Given the description of an element on the screen output the (x, y) to click on. 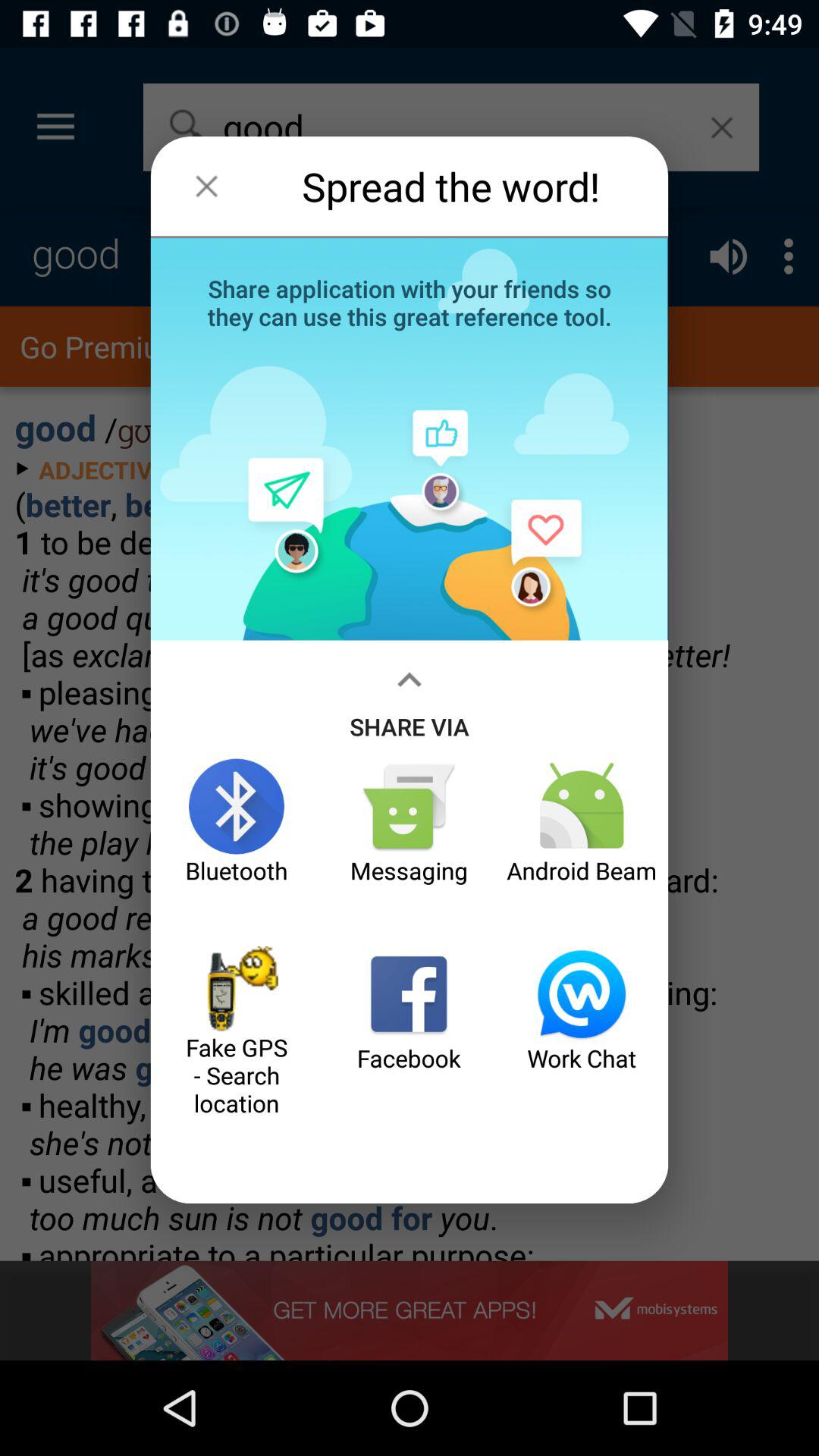
open item above share via icon (409, 301)
